Given the description of an element on the screen output the (x, y) to click on. 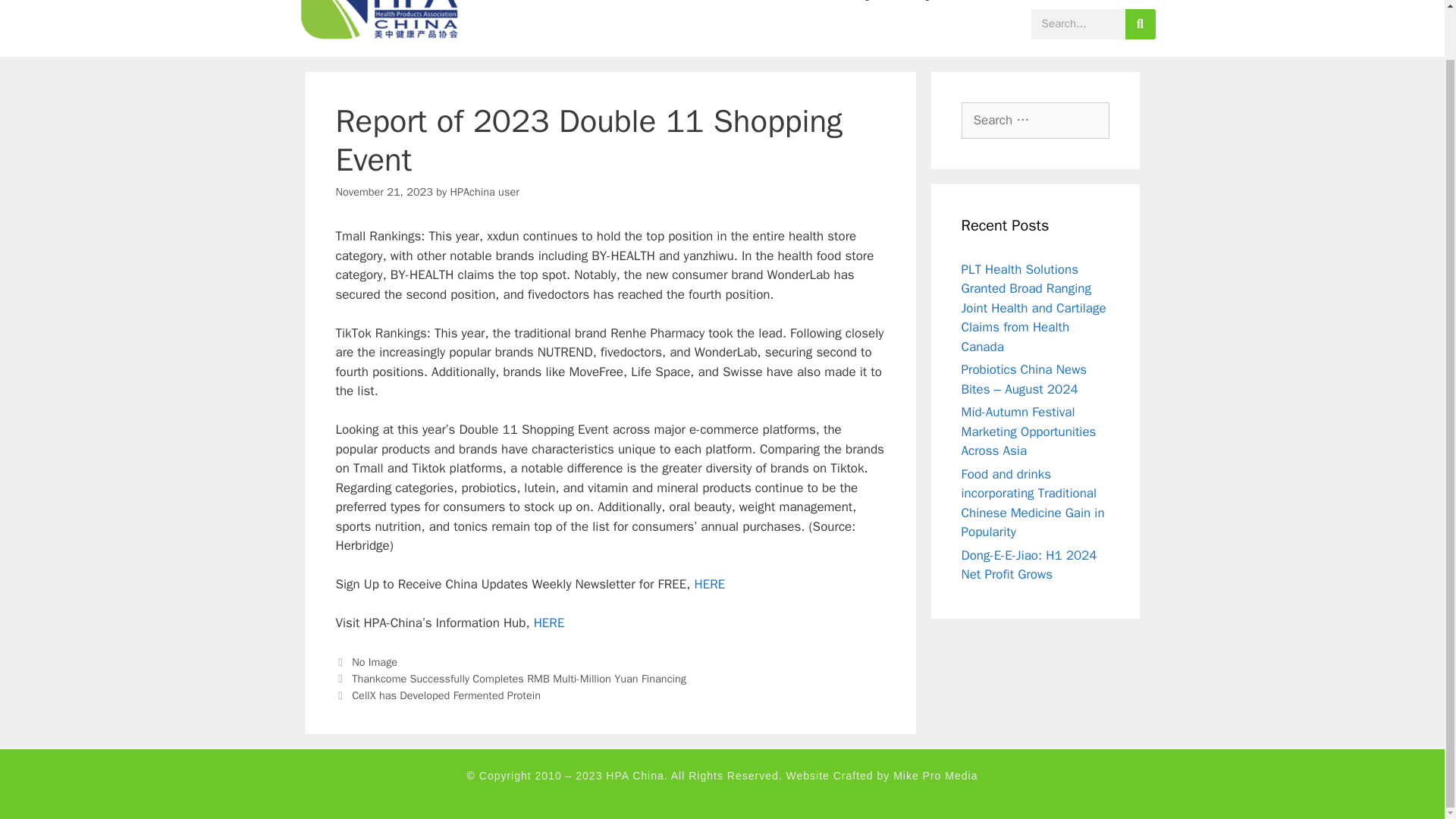
Search for: (1034, 120)
Members (795, 6)
HERE (549, 622)
About Us (603, 6)
Logout (928, 6)
Login (865, 6)
Home (532, 6)
HPAchina user (483, 192)
View all posts by HPAchina user (483, 192)
HERE (709, 584)
